Given the description of an element on the screen output the (x, y) to click on. 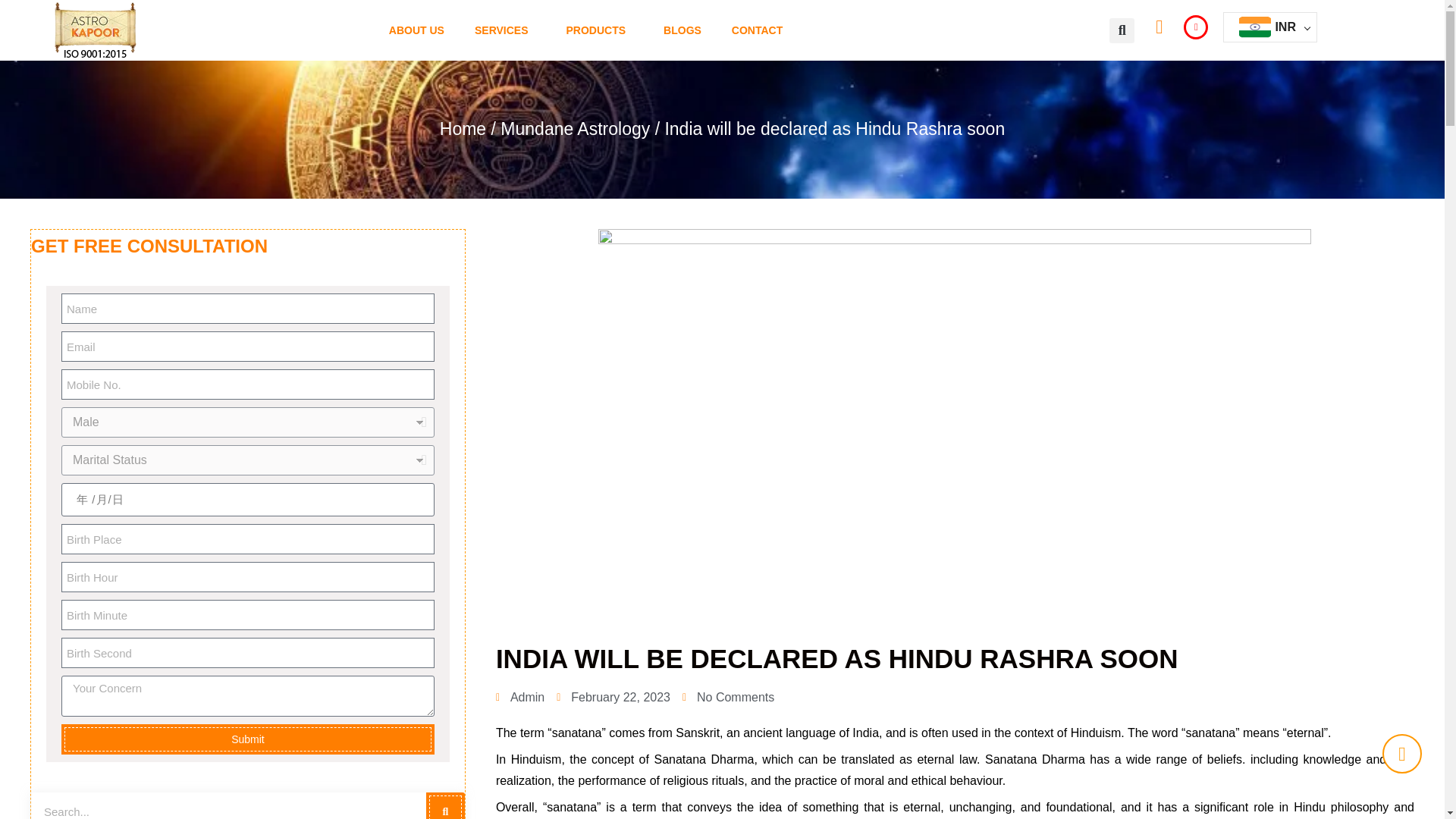
ABOUT US (417, 30)
SERVICES (505, 30)
